Given the description of an element on the screen output the (x, y) to click on. 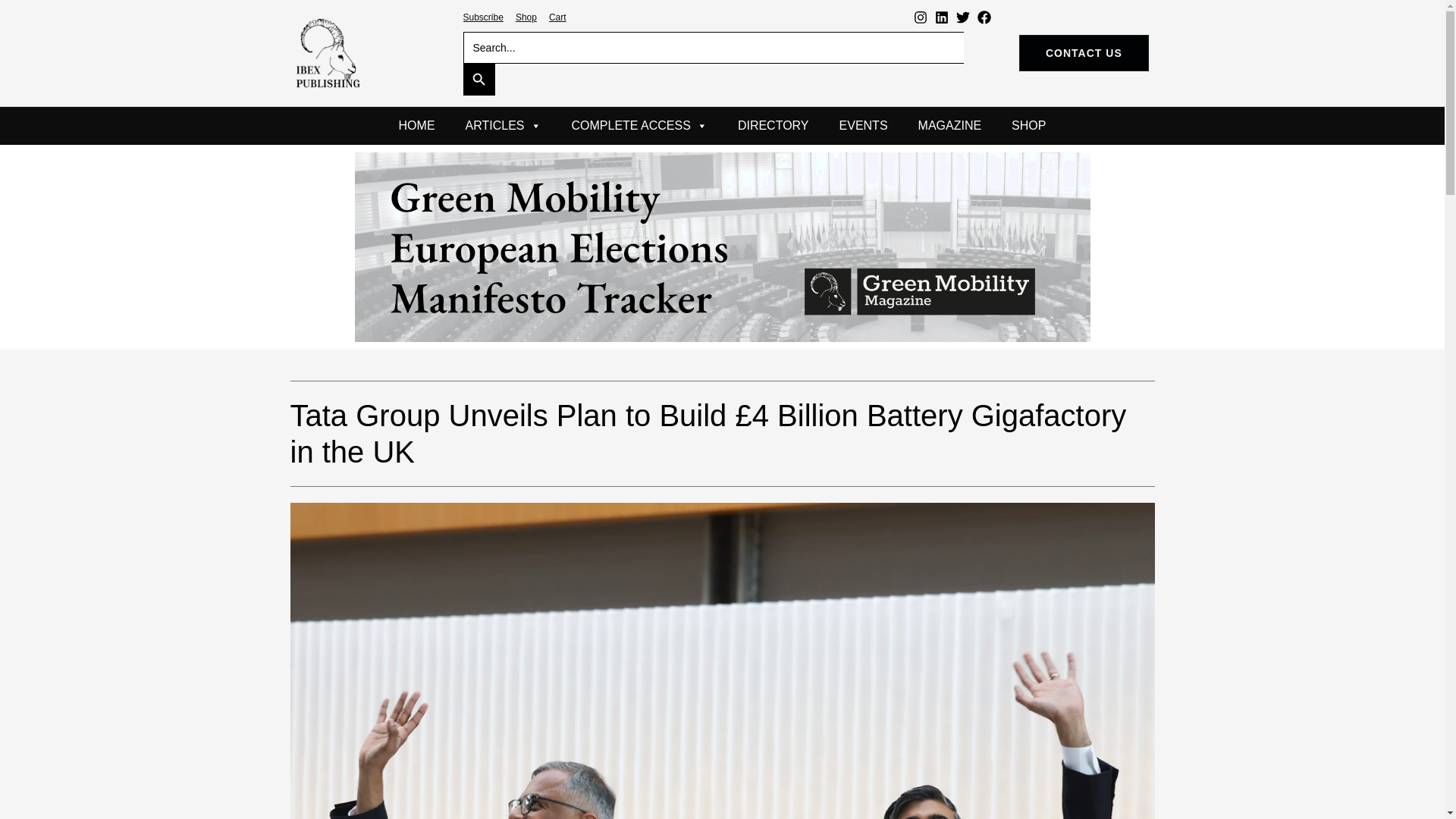
Subscribe (482, 17)
Shop (526, 17)
CONTACT US (1083, 53)
SEARCH BUTTON (479, 79)
Cart (557, 17)
